Given the description of an element on the screen output the (x, y) to click on. 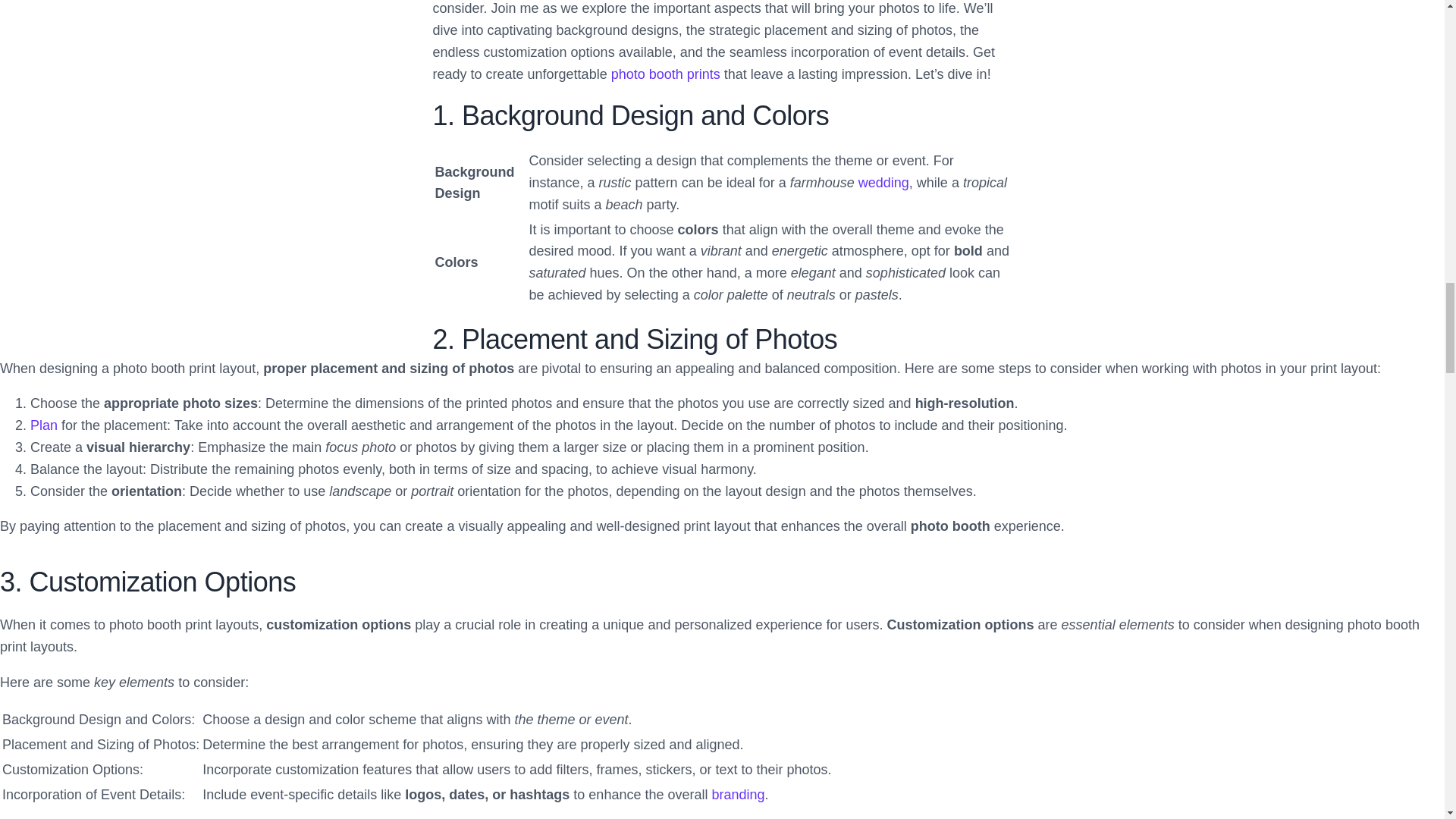
Plan (44, 425)
photo booth prints (665, 73)
photo booth prints (665, 73)
Plan (44, 425)
branding (737, 794)
wedding (883, 182)
branding (737, 794)
wedding (883, 182)
